Given the description of an element on the screen output the (x, y) to click on. 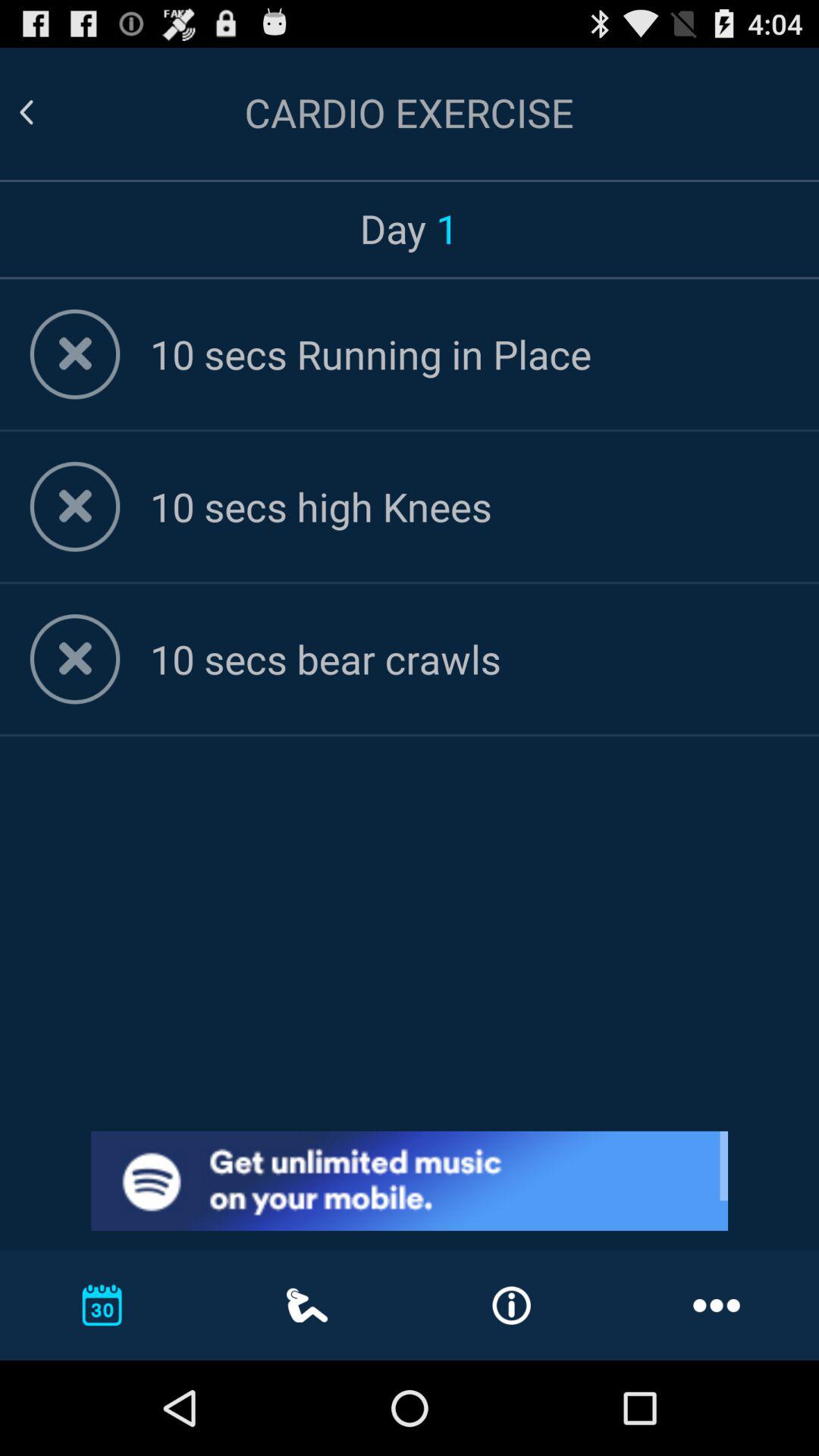
select the option 10 secs running in place (468, 353)
select back button which is at top left side of the screen (26, 111)
select the icon which is in between calendar icon and info icon (306, 1305)
select the notification icon from the bottom of the page (511, 1305)
move to text which is below the text  10 secs bear crawls (468, 658)
select the more icon (716, 1304)
